Given the description of an element on the screen output the (x, y) to click on. 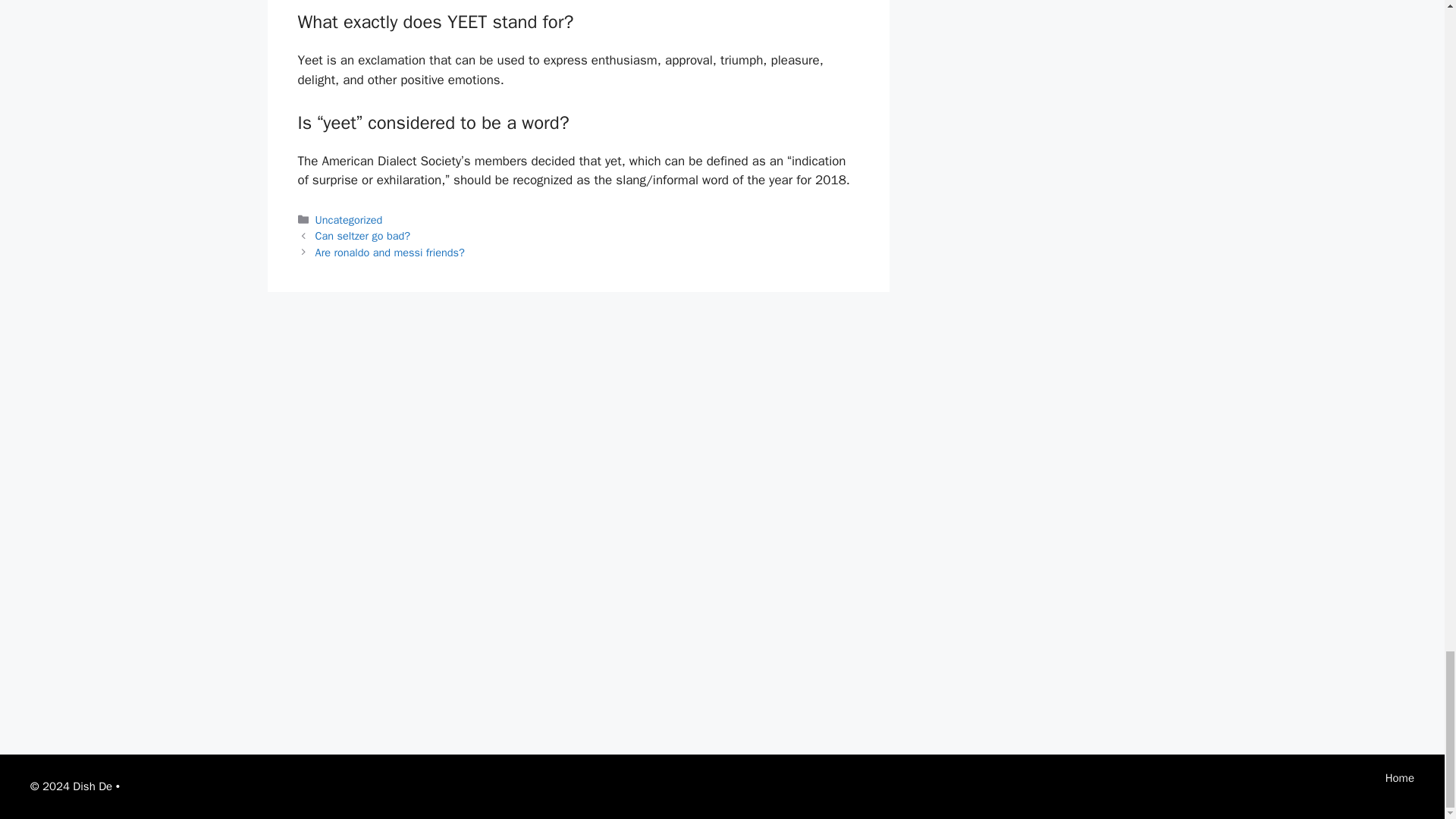
Uncategorized (348, 219)
Are ronaldo and messi friends? (389, 252)
Can seltzer go bad? (362, 235)
Home (1399, 777)
Next (389, 252)
Previous (362, 235)
